Given the description of an element on the screen output the (x, y) to click on. 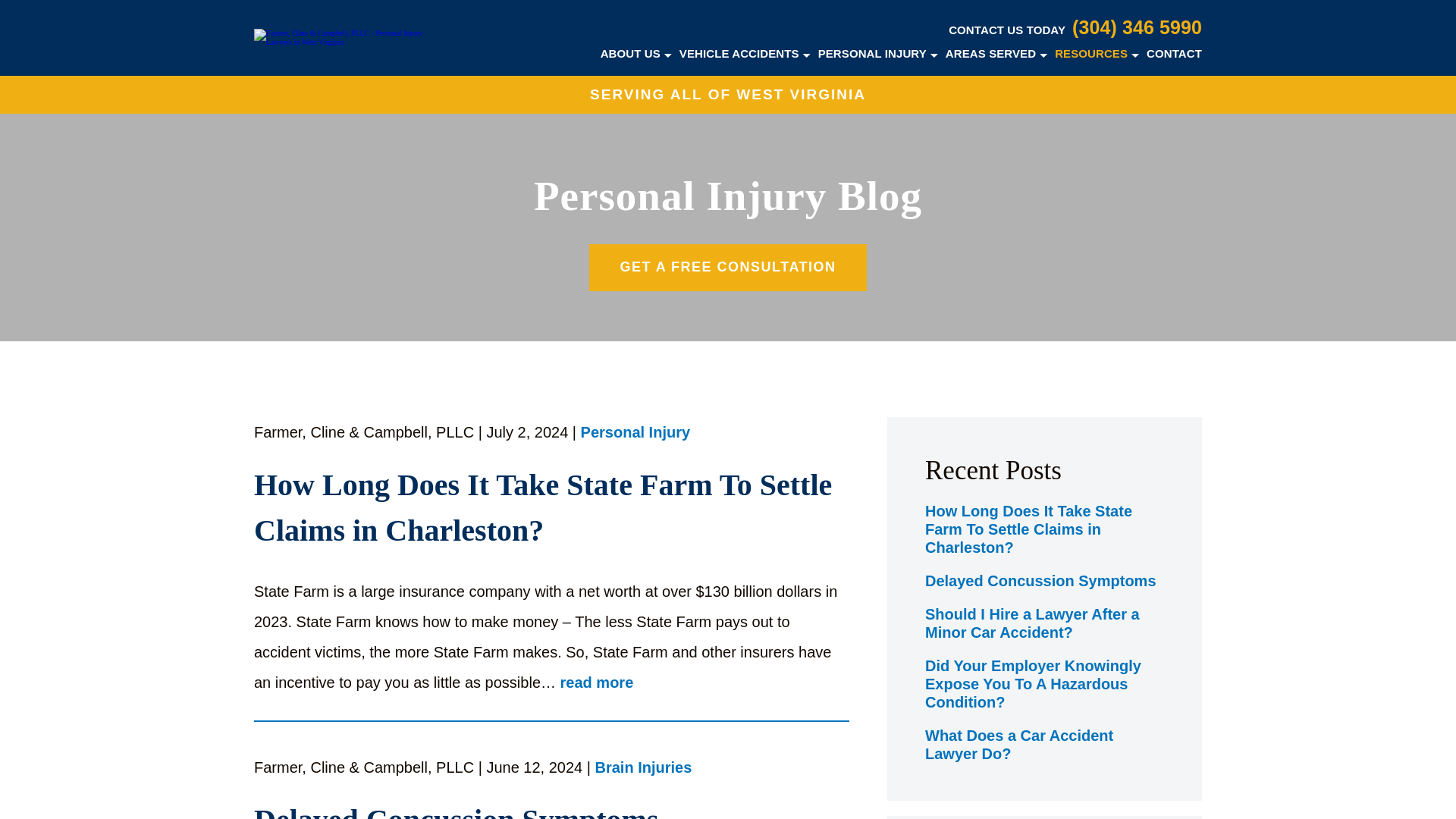
GET A FREE CONSULTATION (727, 267)
ABOUT US (630, 52)
read more (596, 683)
Brain Injuries (644, 768)
RESOURCES (1090, 52)
VEHICLE ACCIDENTS (739, 52)
CONTACT (1174, 52)
Delayed Concussion Symptoms (550, 808)
AREAS SERVED (989, 52)
Personal Injury (635, 433)
PERSONAL INJURY (872, 52)
